Given the description of an element on the screen output the (x, y) to click on. 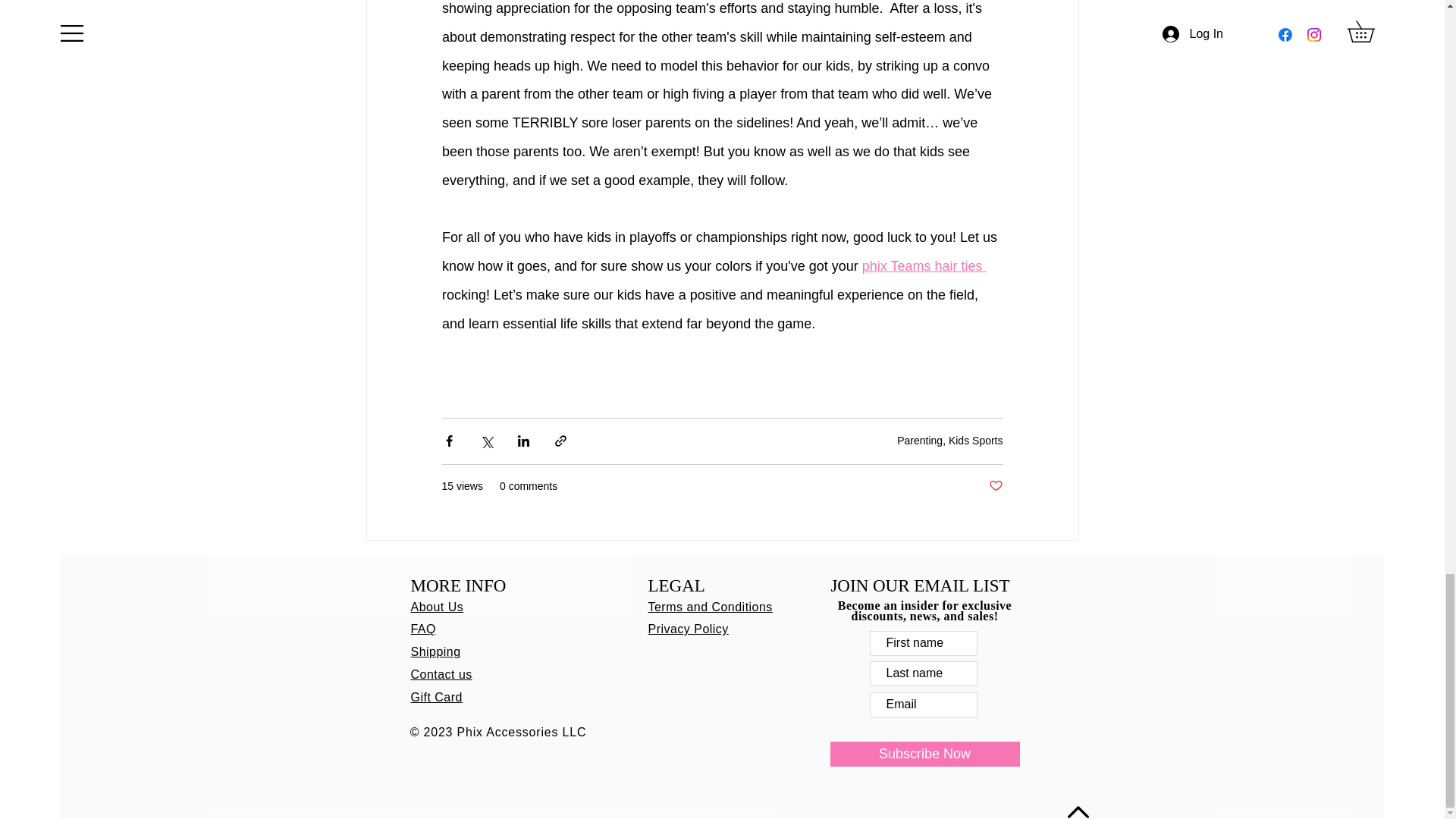
FAQ (422, 628)
Gift Card (436, 697)
About Us (437, 606)
Privacy Policy (687, 628)
Subscribe Now (924, 754)
Terms and Conditions (709, 606)
Shipping (435, 651)
Parenting, Kids Sports (949, 440)
phix Teams hair ties  (923, 265)
Contact us (440, 674)
